Given the description of an element on the screen output the (x, y) to click on. 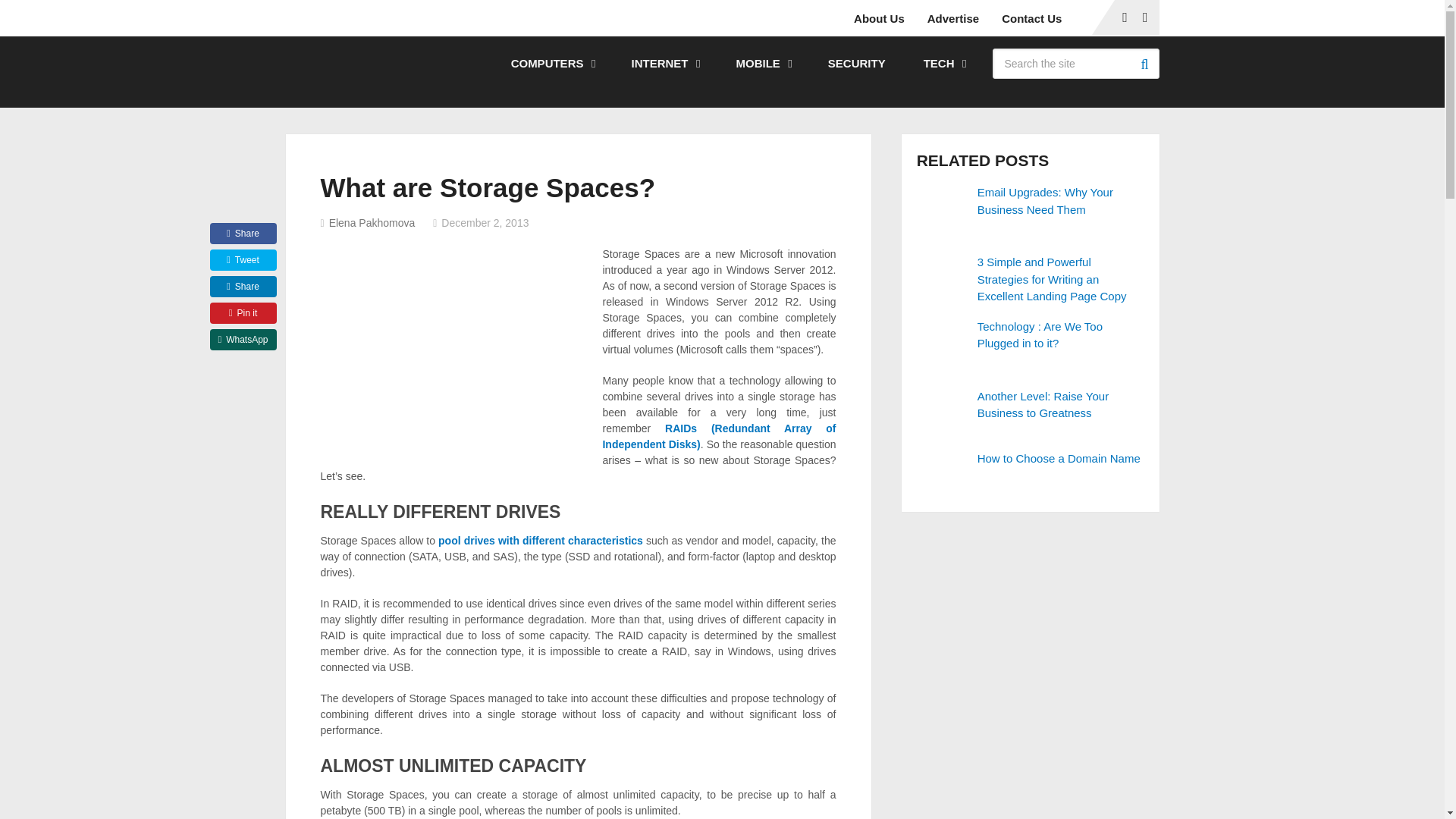
Contact Us (1031, 18)
Search (1143, 63)
Technology : Are We Too Plugged in to it? (943, 344)
Posts by Elena Pakhomova (371, 223)
Another Level: Raise Your Business to Greatness (1030, 405)
COMPUTERS (552, 63)
About Us (884, 18)
How to Choose a Domain Name (943, 471)
Share (242, 233)
SECURITY (856, 63)
TECH (944, 63)
pool drives with different characteristics (540, 540)
Technology : Are We Too Plugged in to it? (1030, 335)
INTERNET (663, 63)
